Given the description of an element on the screen output the (x, y) to click on. 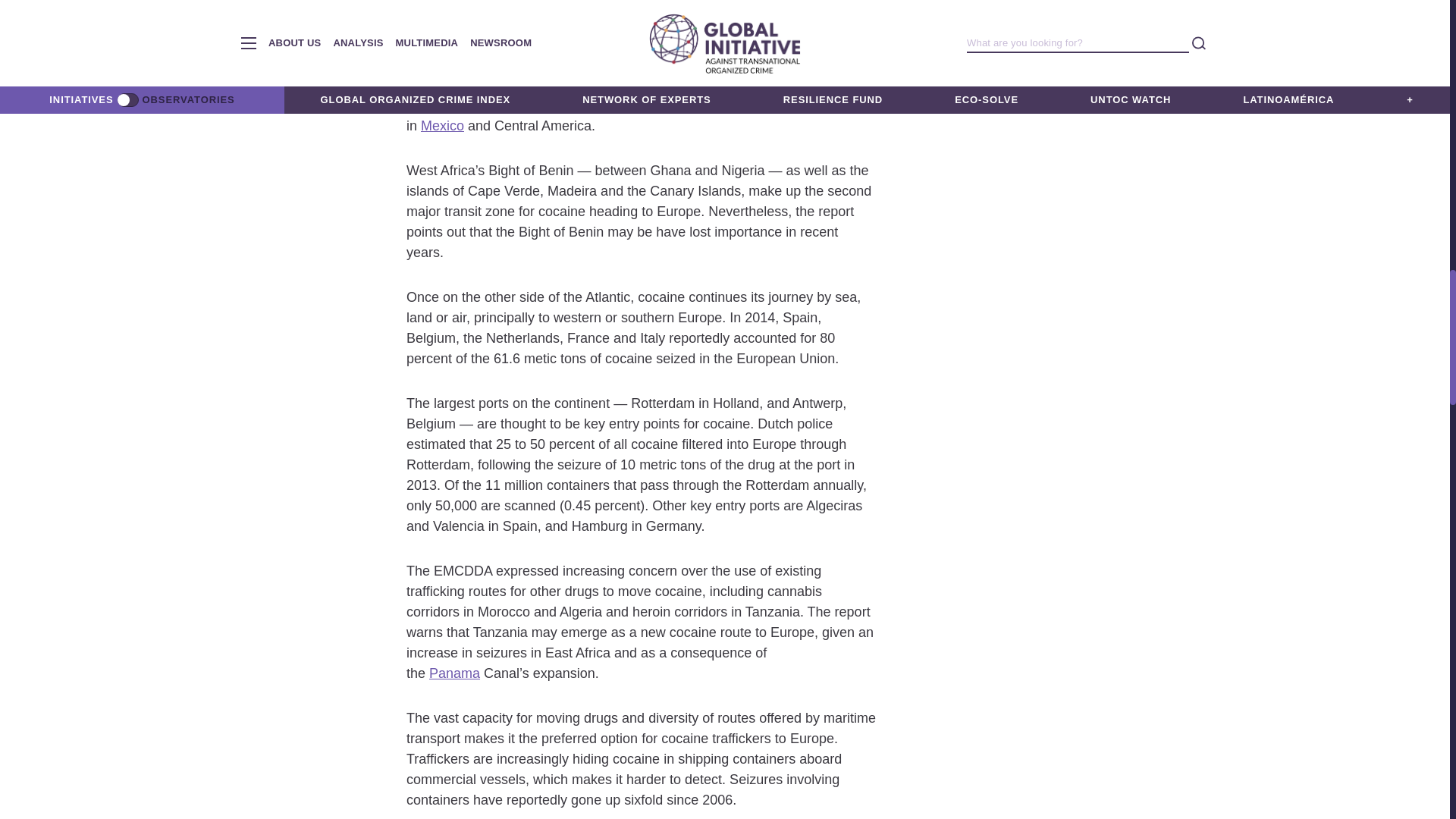
Link to Mexico landing page. (442, 125)
Link to Panama tag.  (454, 672)
